Given the description of an element on the screen output the (x, y) to click on. 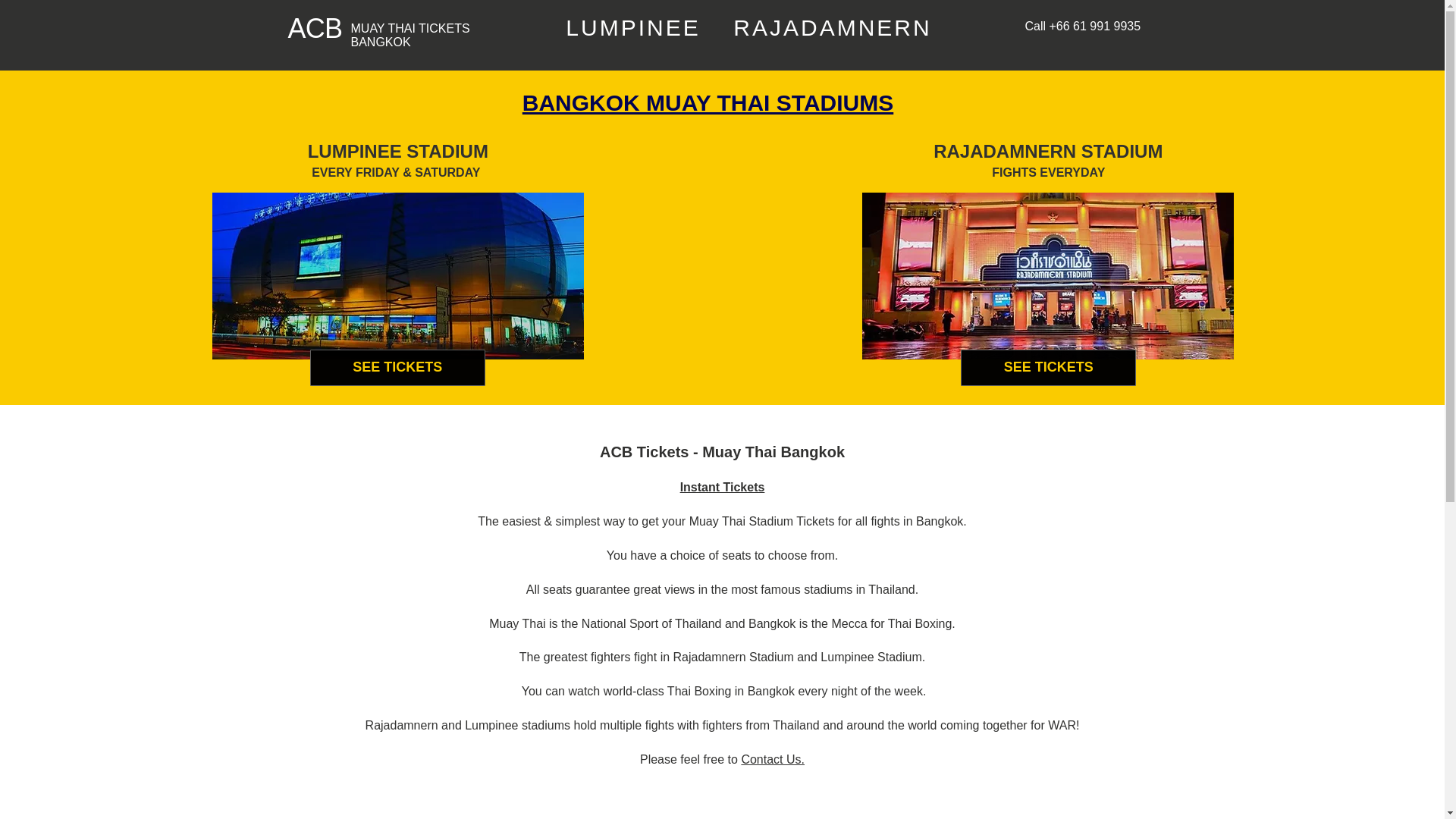
RAJADAMNERN (832, 28)
SEE TICKETS (1047, 367)
Contact Us. (773, 758)
RAJADAMNERN STADIUM (1047, 150)
MUAY THAI TICKETS BANGKOK (409, 35)
ACB (315, 28)
LUMPINEE STADIUM (397, 150)
SEE TICKETS (397, 367)
LUMPINEE (632, 28)
Bangkok Muay Thai Stadum (397, 275)
